Given the description of an element on the screen output the (x, y) to click on. 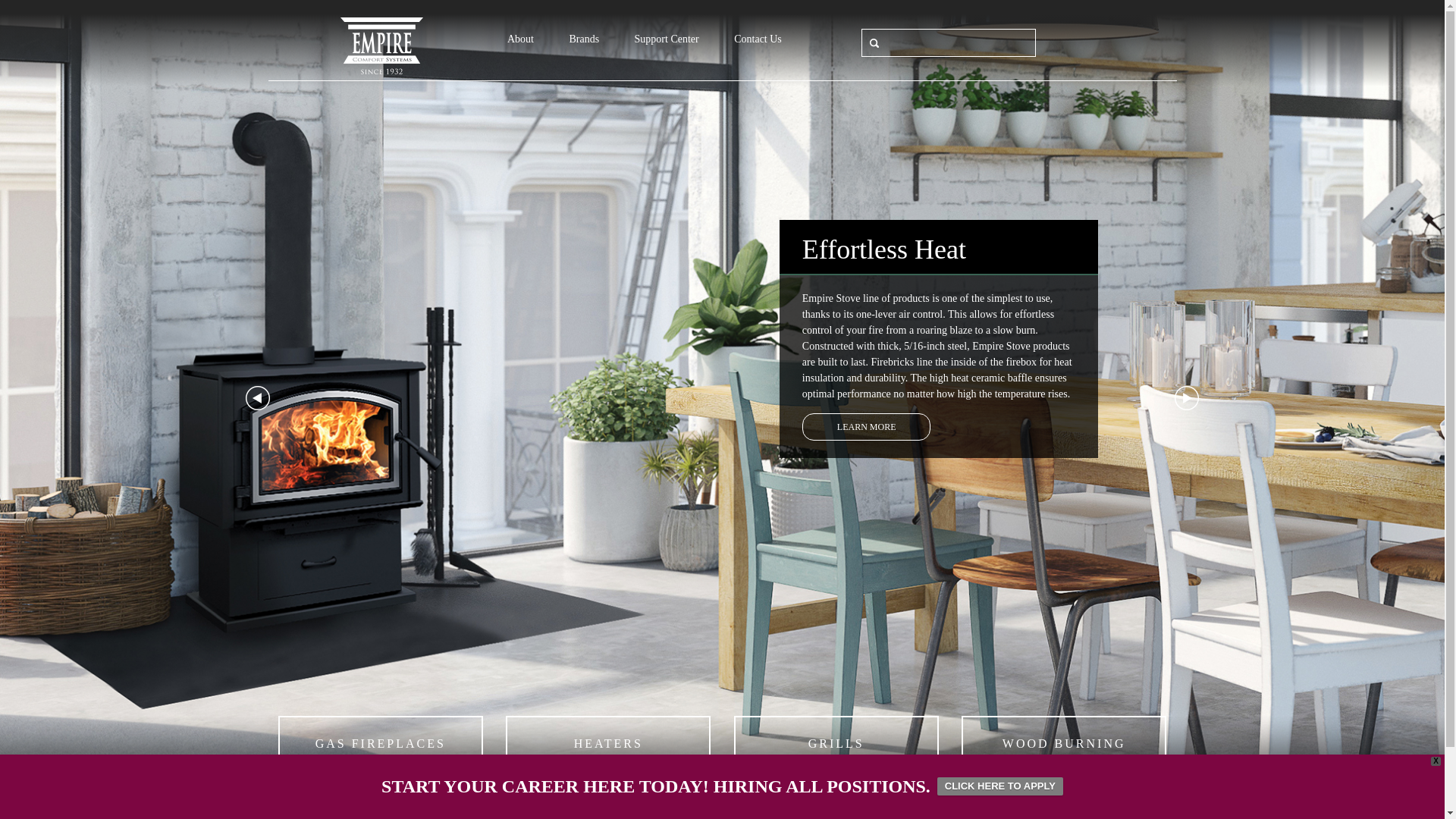
About (520, 39)
Brands (583, 39)
HEATERS (607, 743)
GRILLS (836, 743)
Next (1186, 397)
LEARN MORE (866, 426)
GAS FIREPLACES (380, 743)
WOOD BURNING (1063, 743)
Support Center (667, 39)
Search for: (948, 42)
Empire Comfort Systems (381, 45)
Contact Us (757, 39)
Previous (257, 397)
